Given the description of an element on the screen output the (x, y) to click on. 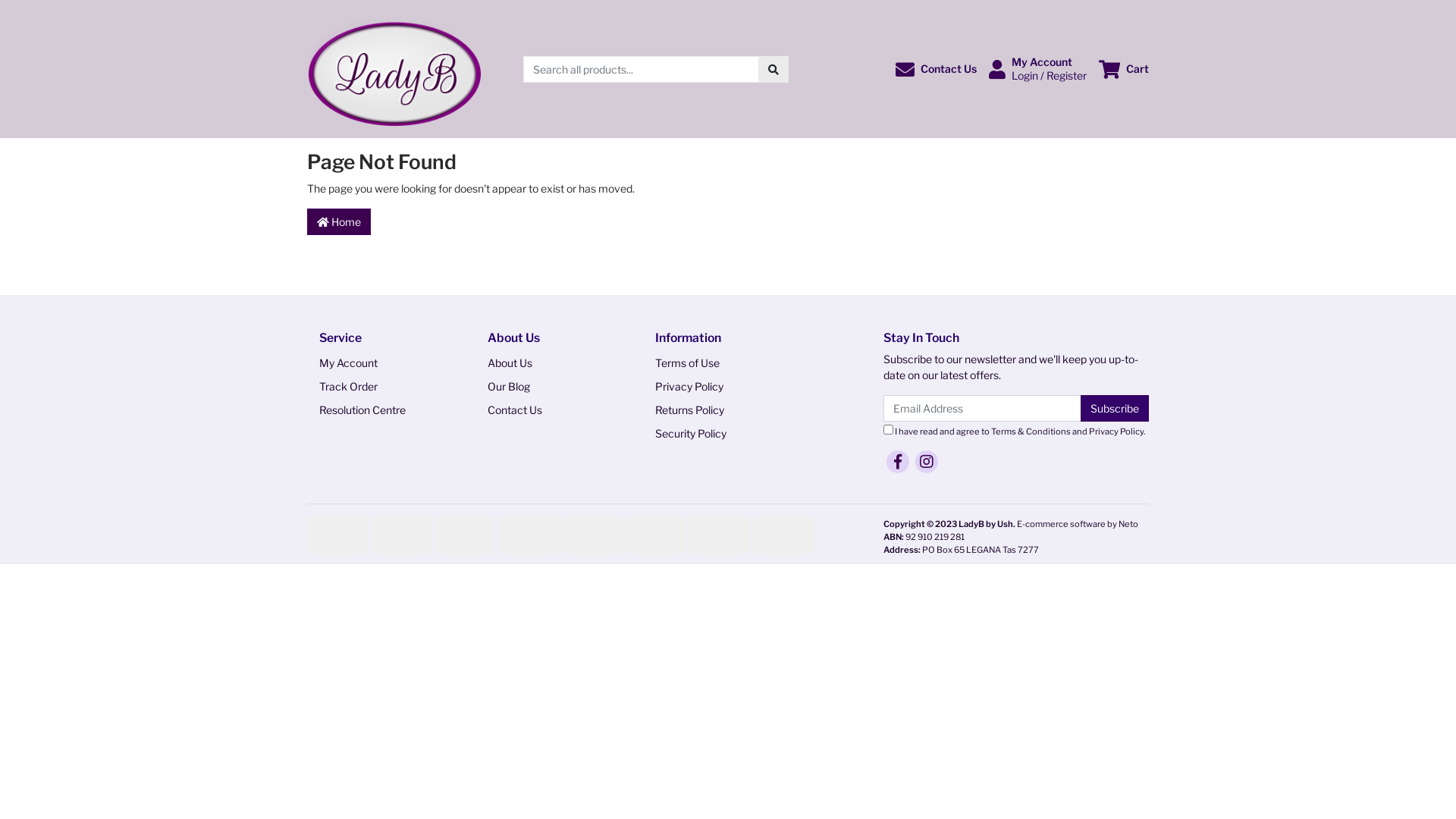
Facebook Element type: text (897, 461)
Contact Us Element type: text (935, 68)
Security Policy Element type: text (715, 433)
Search Element type: text (773, 69)
Our Blog Element type: text (548, 386)
Privacy Policy Element type: text (1115, 431)
Terms of Use Element type: text (715, 362)
Contact Us Element type: text (548, 409)
My Account Element type: text (379, 362)
Privacy Policy Element type: text (715, 386)
Home Element type: text (338, 220)
Instagram Element type: text (926, 461)
Subscribe Element type: text (1114, 408)
E-commerce software by Neto Element type: text (1077, 523)
Terms & Conditions Element type: text (1030, 431)
Track Order Element type: text (379, 386)
LadyB by Ush Element type: hover (393, 67)
Resolution Centre Element type: text (379, 409)
Returns Policy Element type: text (715, 409)
About Us Element type: text (548, 362)
My Account
Login / Register Element type: text (1037, 68)
Cart Element type: text (1123, 68)
